Given the description of an element on the screen output the (x, y) to click on. 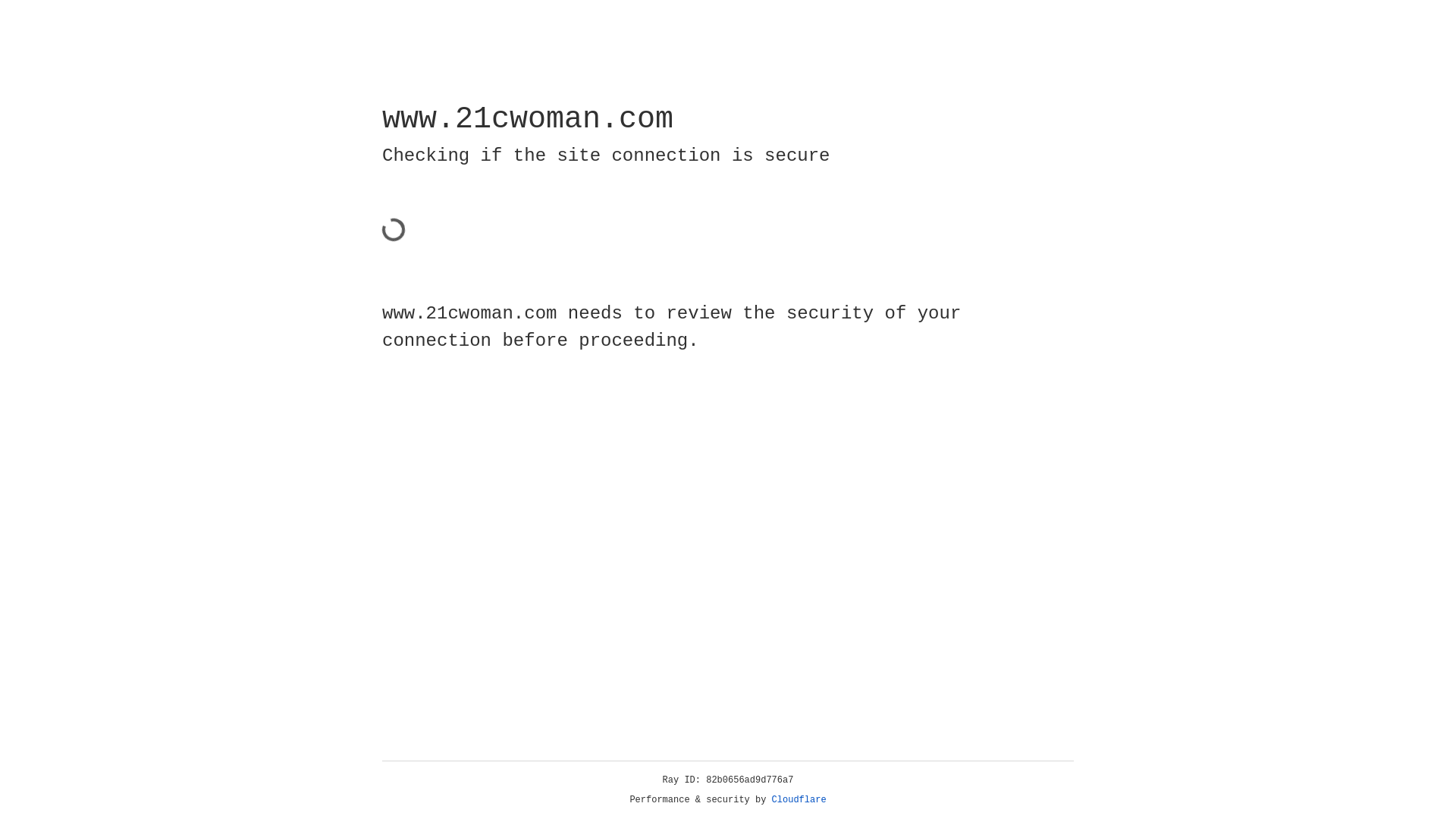
Cloudflare Element type: text (798, 799)
